Given the description of an element on the screen output the (x, y) to click on. 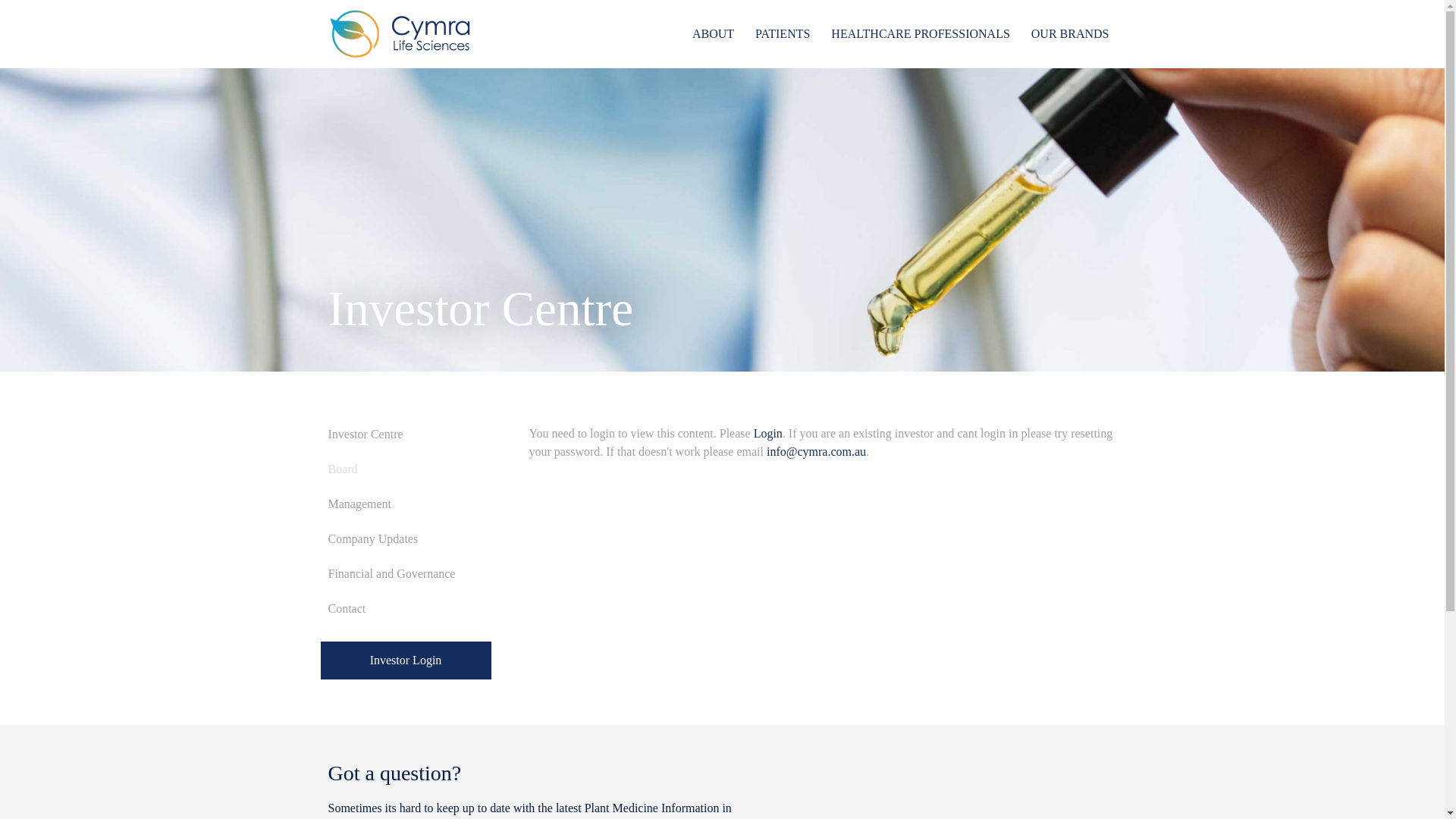
Investor Centre Element type: text (405, 434)
ABOUT Element type: text (712, 33)
Login Element type: text (767, 432)
PATIENTS Element type: text (782, 33)
Contact Element type: text (405, 608)
info@cymra.com.au Element type: text (816, 451)
Investor Login Element type: text (405, 660)
Board Element type: text (405, 468)
Financial and Governance Element type: text (405, 573)
HEALTHCARE PROFESSIONALS Element type: text (919, 33)
OUR BRANDS Element type: text (1070, 33)
Company Updates Element type: text (405, 538)
Management Element type: text (405, 503)
